Given the description of an element on the screen output the (x, y) to click on. 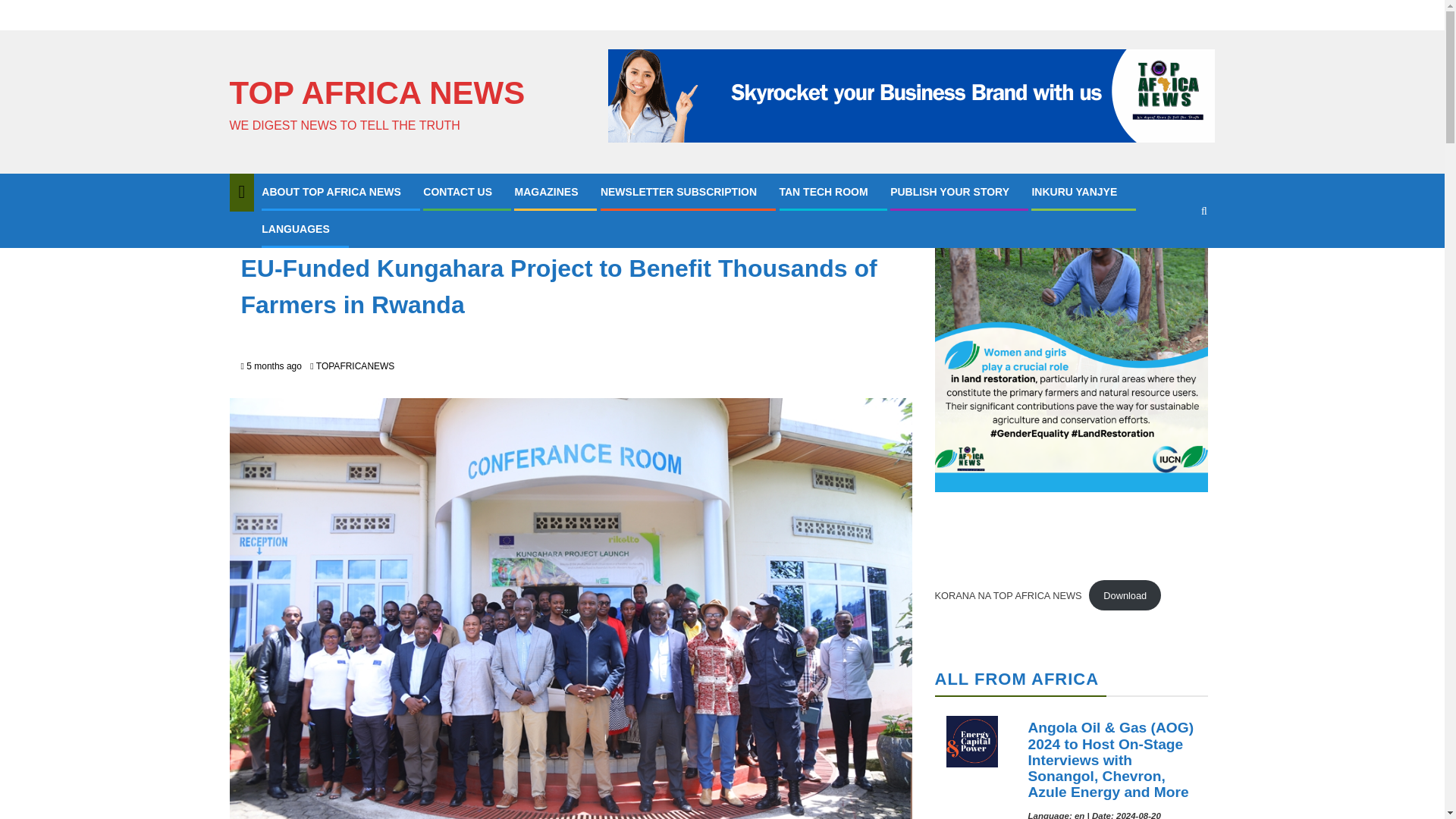
INKURU YANJYE (1073, 191)
TOP AFRICA NEWS (376, 92)
NEWSLETTER SUBSCRIPTION (678, 191)
TOPAFRICANEWS (354, 366)
CONTACT US (457, 191)
LANGUAGES (295, 228)
ABOUT TOP AFRICA NEWS (331, 191)
Natural Resources and Agriculture (322, 233)
MAGAZINES (545, 191)
Search (1174, 256)
